Given the description of an element on the screen output the (x, y) to click on. 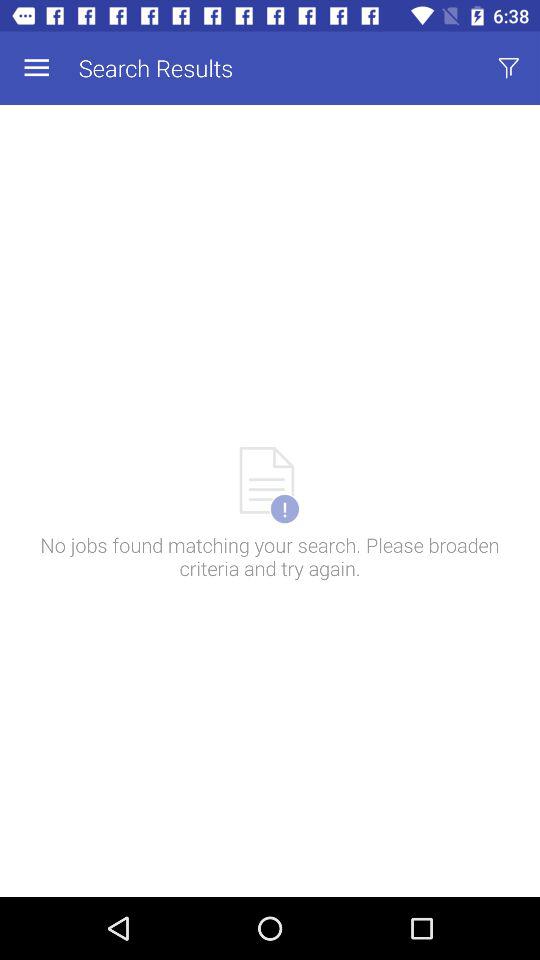
select the app to the right of search results item (508, 67)
